Given the description of an element on the screen output the (x, y) to click on. 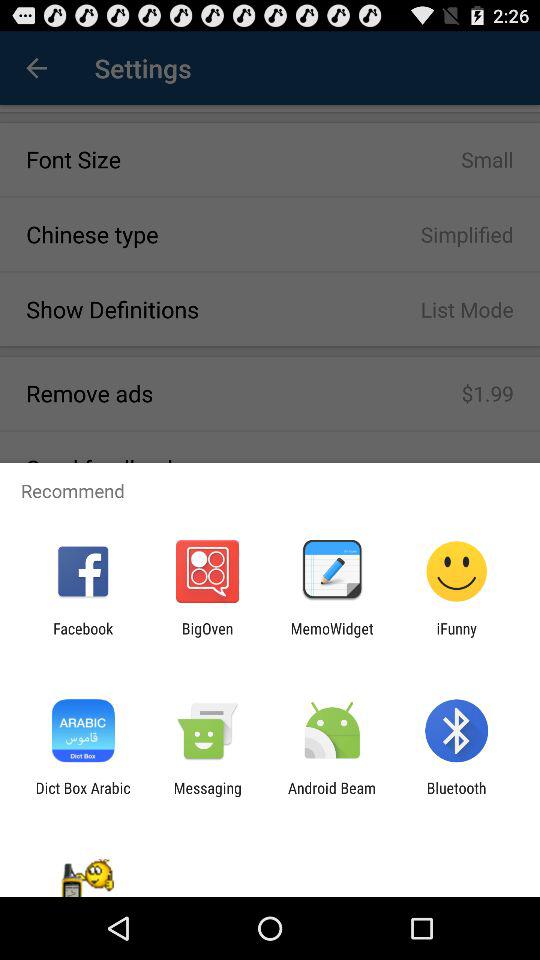
click the item next to memowidget icon (456, 637)
